Given the description of an element on the screen output the (x, y) to click on. 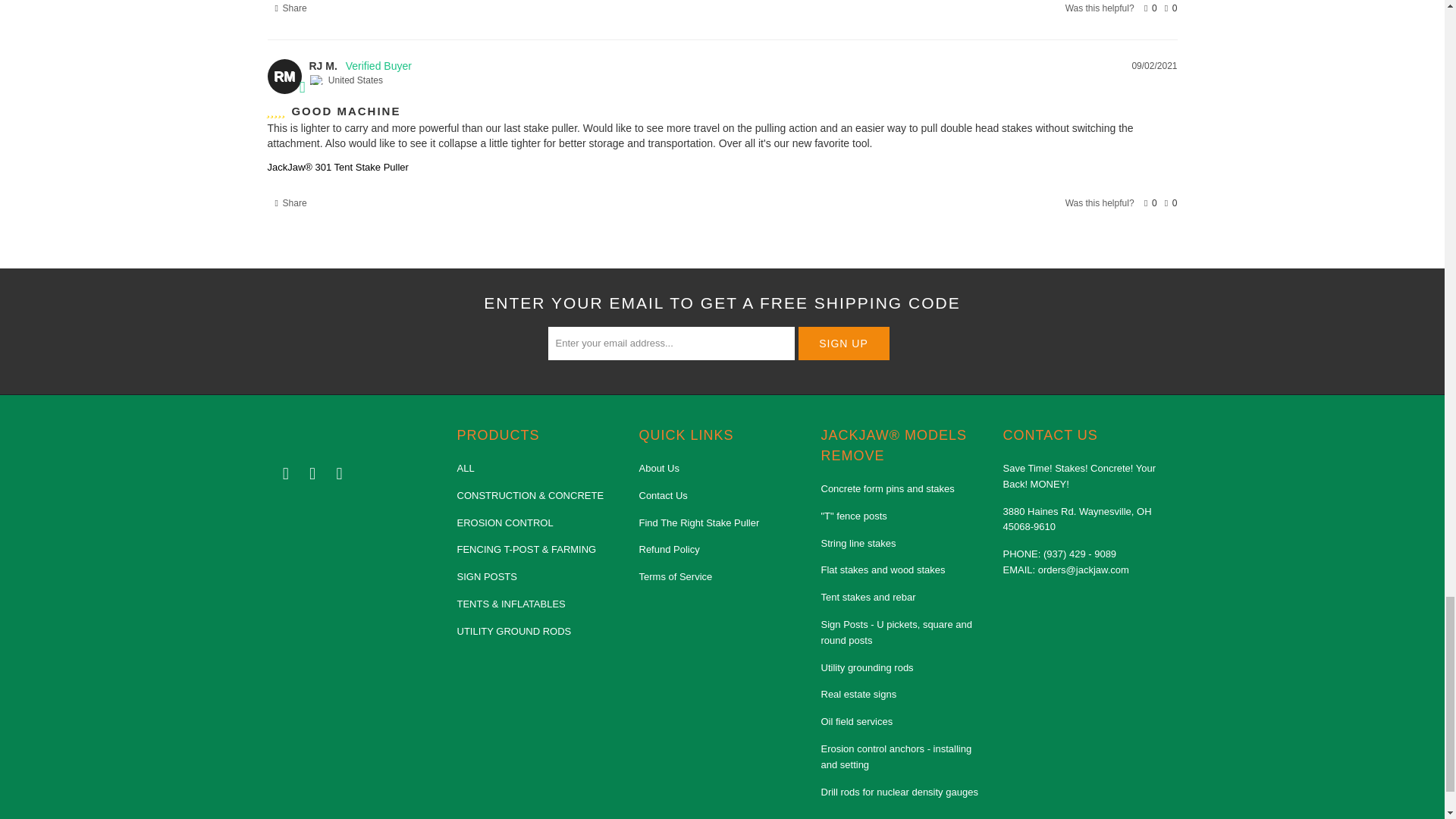
Sign Up (842, 343)
Construction Accessories Inc. on Facebook (286, 474)
Construction Accessories Inc. on Instagram (339, 474)
Construction Accessories Inc. on YouTube (312, 474)
